Given the description of an element on the screen output the (x, y) to click on. 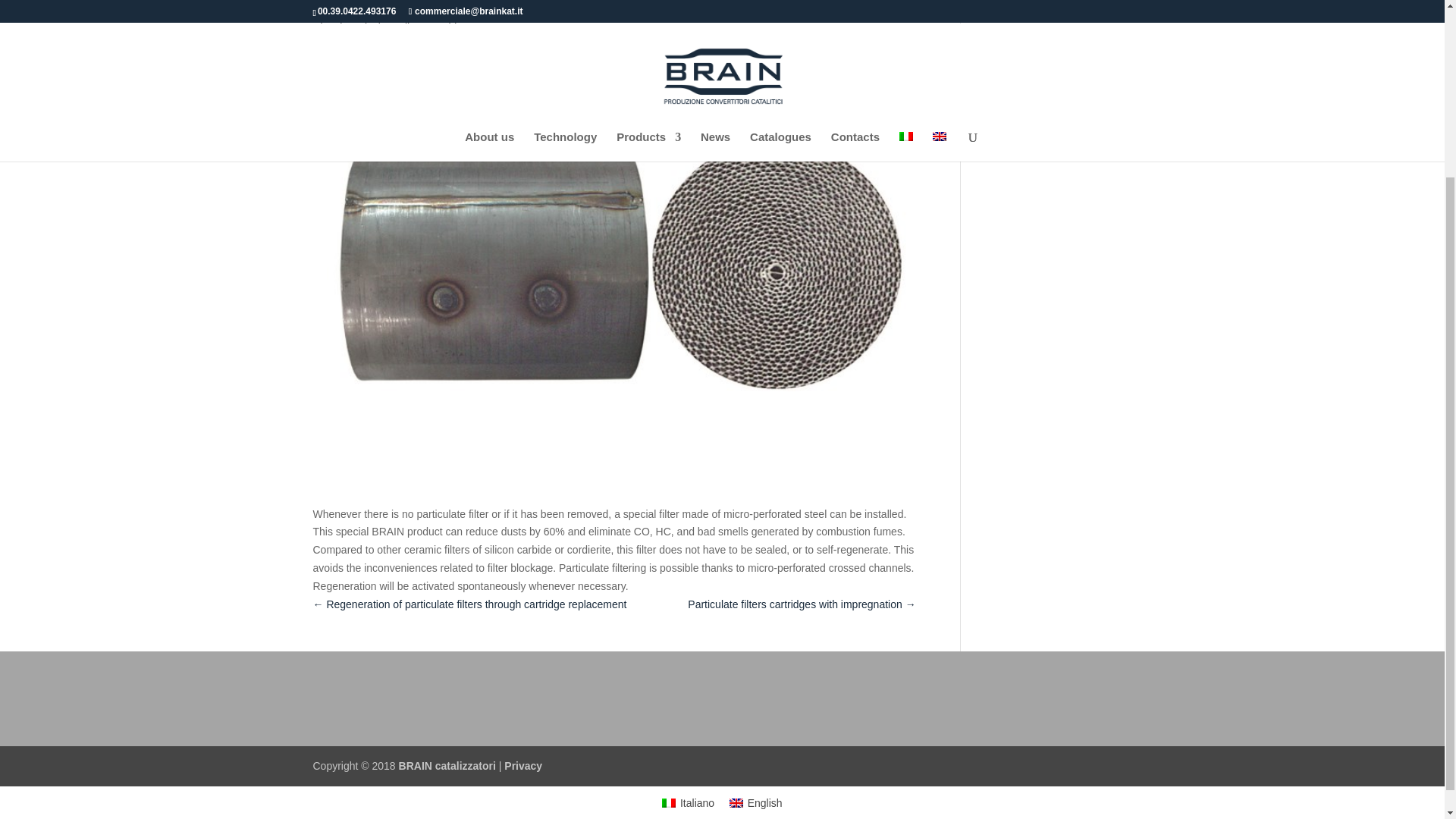
Automotive (861, 4)
BRAIN catalizzatori (447, 766)
Privacy (522, 766)
Diesel Particulate Filter Cartridges (393, 27)
English (756, 802)
Italiano (687, 802)
